Given the description of an element on the screen output the (x, y) to click on. 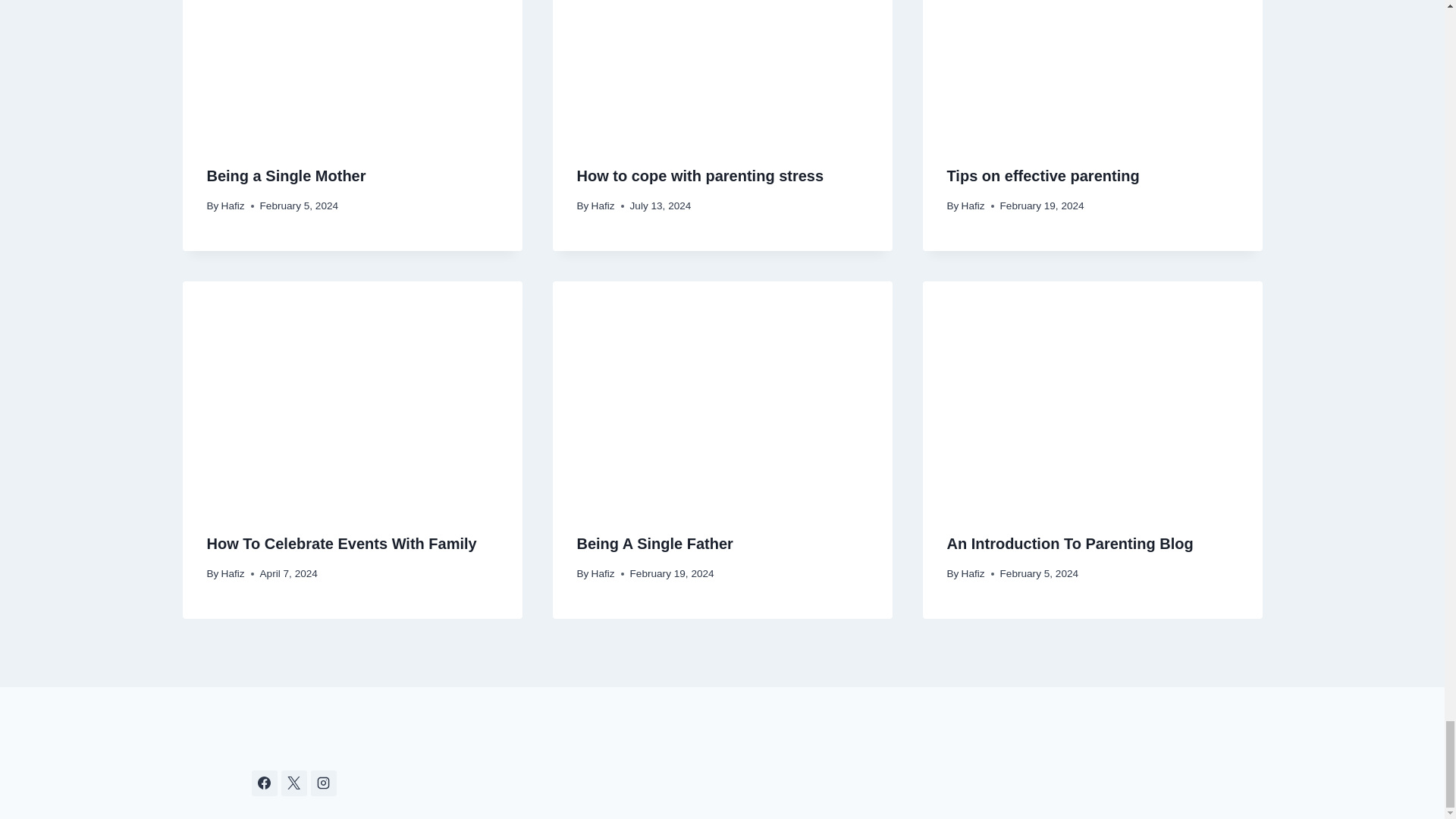
How to cope with parenting stress (700, 175)
Tips on effective parenting (1042, 175)
Hafiz (232, 205)
Hafiz (972, 205)
Being a Single Mother (285, 175)
Hafiz (602, 205)
